Given the description of an element on the screen output the (x, y) to click on. 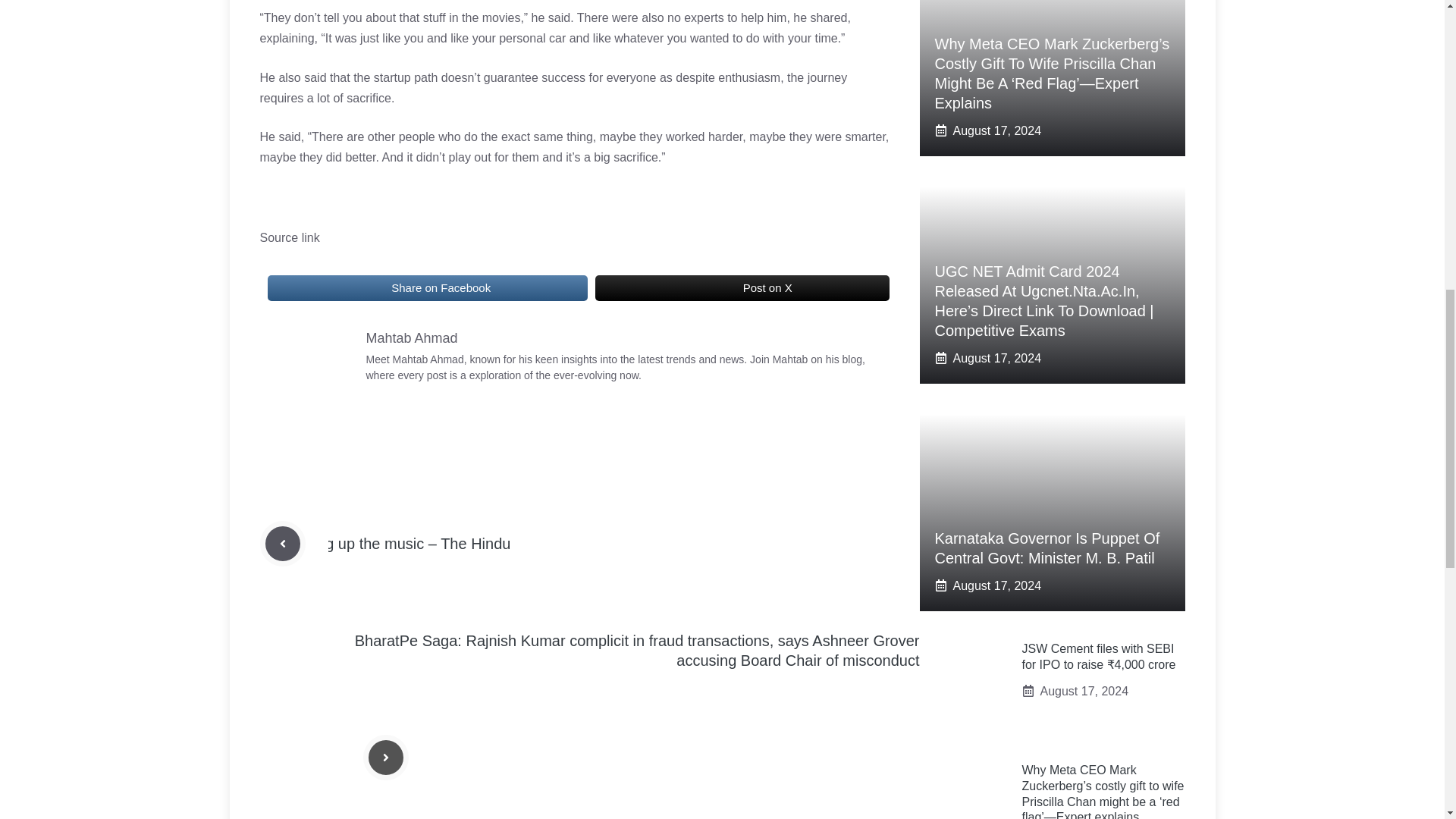
Post on X (742, 287)
Share on Facebook (426, 287)
Source link (288, 237)
Mahtab Ahmad (411, 337)
